Given the description of an element on the screen output the (x, y) to click on. 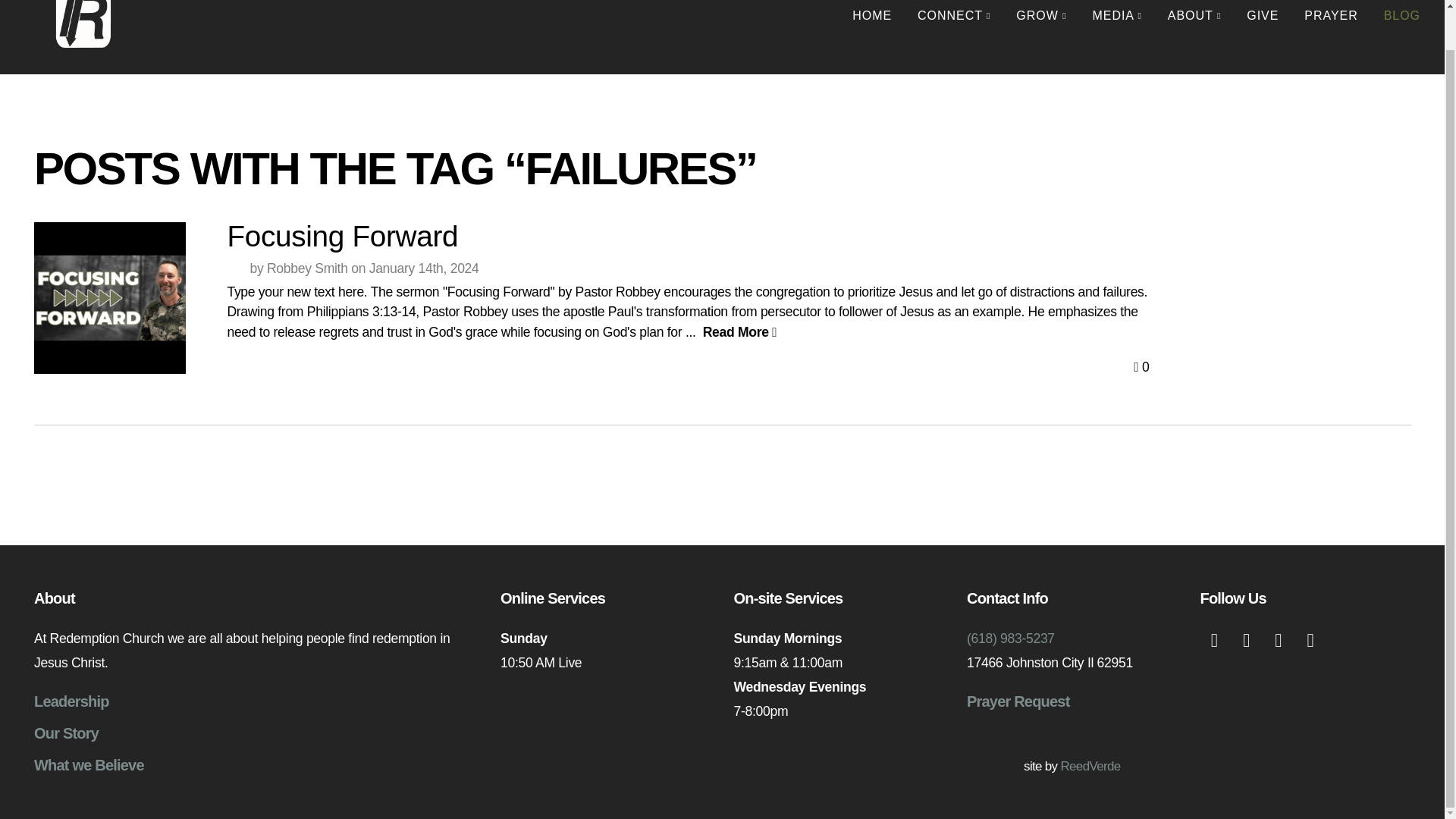
GIVE (1262, 15)
BLOG (1402, 15)
Our Story (66, 733)
MEDIA  (1117, 15)
ABOUT  (1193, 15)
HOME (871, 15)
Leadership (71, 701)
PRAYER (1330, 15)
CONNECT  (953, 15)
GROW  (1040, 15)
